Given the description of an element on the screen output the (x, y) to click on. 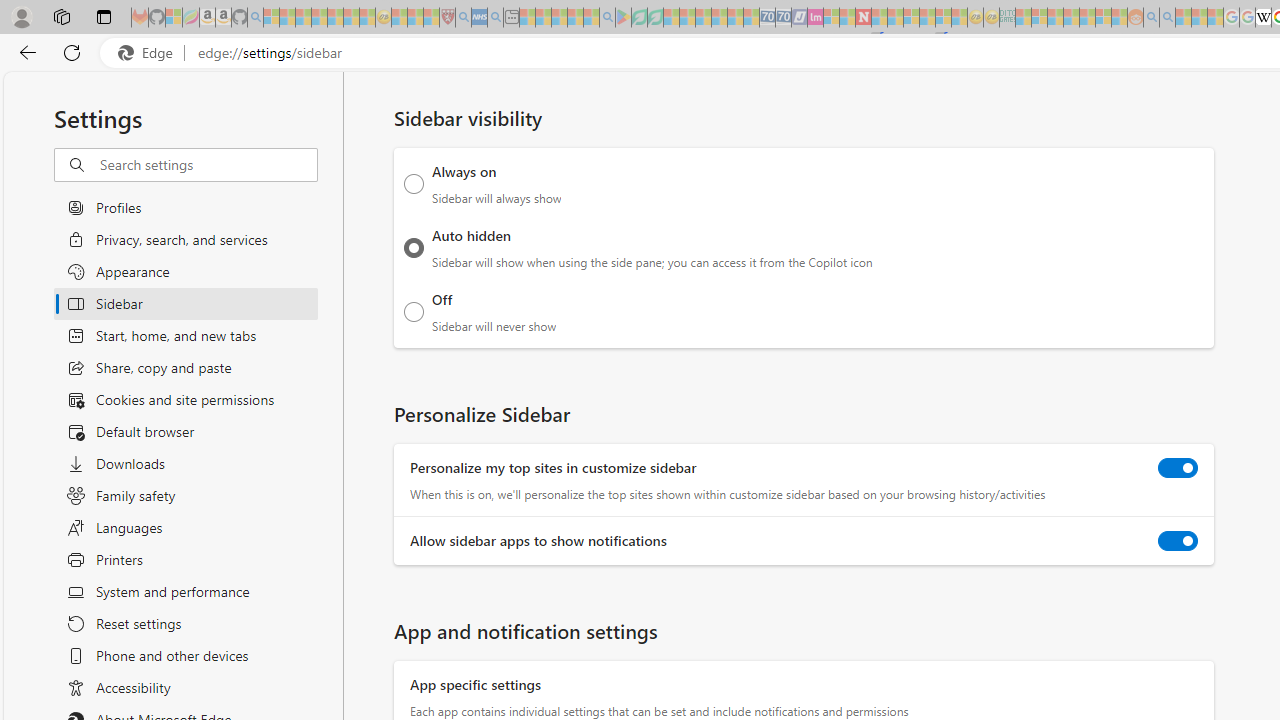
Personalize my top sites in customize sidebar (1178, 467)
Terms of Use Agreement - Sleeping (639, 17)
utah sues federal government - Search - Sleeping (495, 17)
The Weather Channel - MSN - Sleeping (303, 17)
Edge (150, 53)
Local - MSN - Sleeping (431, 17)
Allow sidebar apps to show notifications (1178, 540)
